Given the description of an element on the screen output the (x, y) to click on. 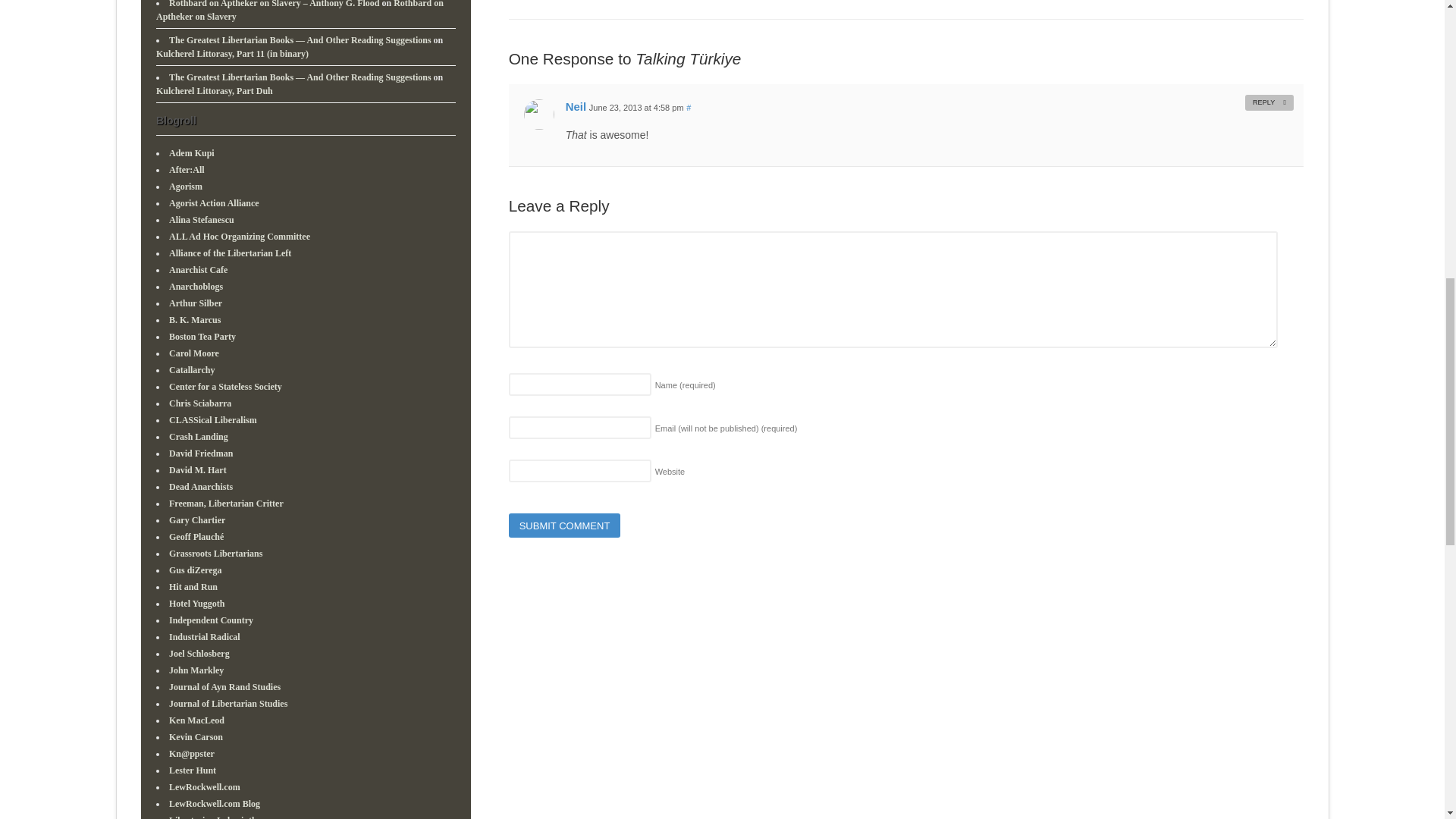
Neil (576, 106)
Submit Comment (564, 525)
Submit Comment (564, 525)
REPLY (1269, 102)
